Given the description of an element on the screen output the (x, y) to click on. 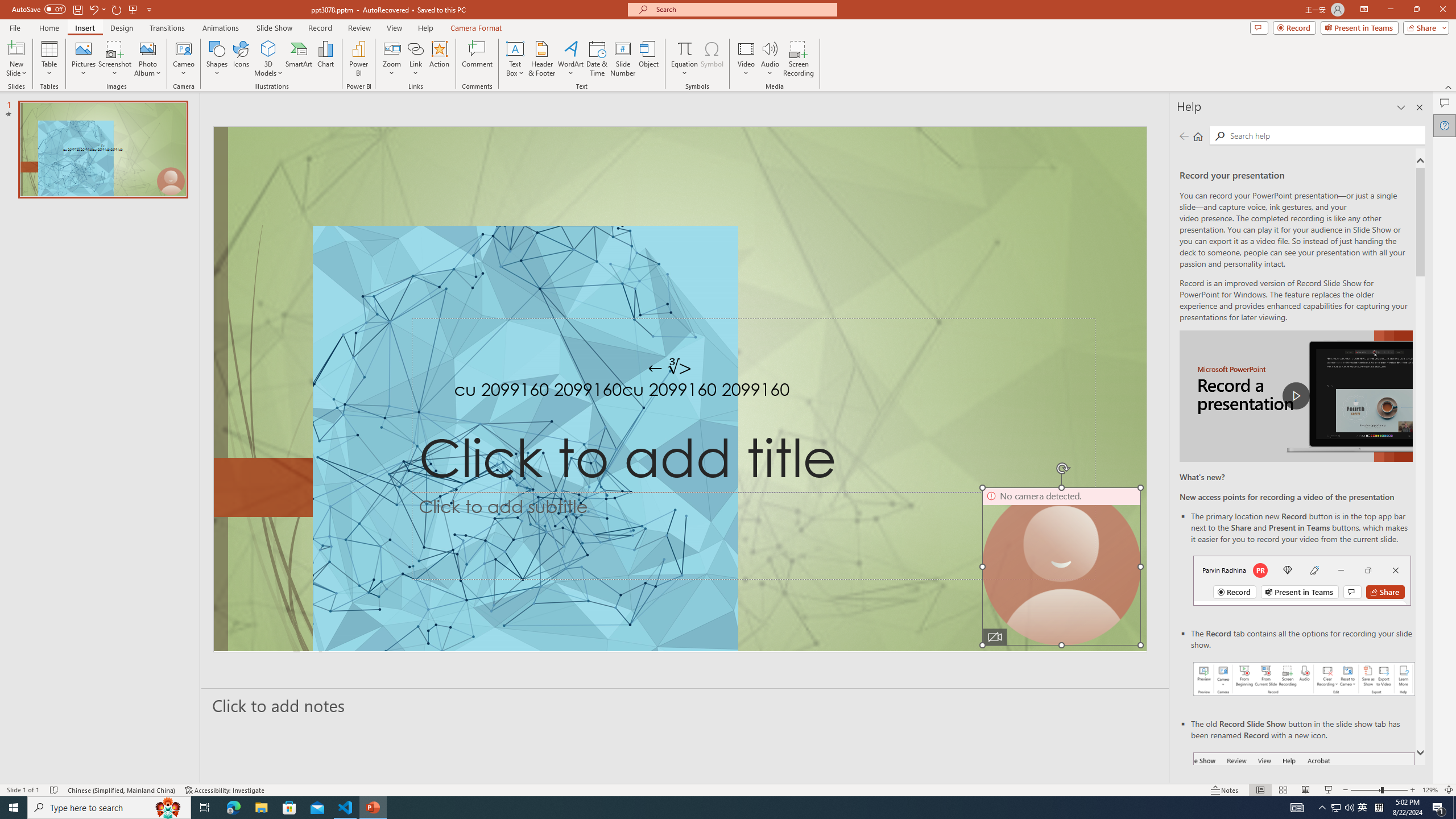
Draw Horizontal Text Box (515, 48)
Date & Time... (596, 58)
Action (439, 58)
Camera 9, No camera detected. (1061, 566)
WordArt (570, 58)
Previous page (1183, 136)
Screenshot (114, 58)
